Given the description of an element on the screen output the (x, y) to click on. 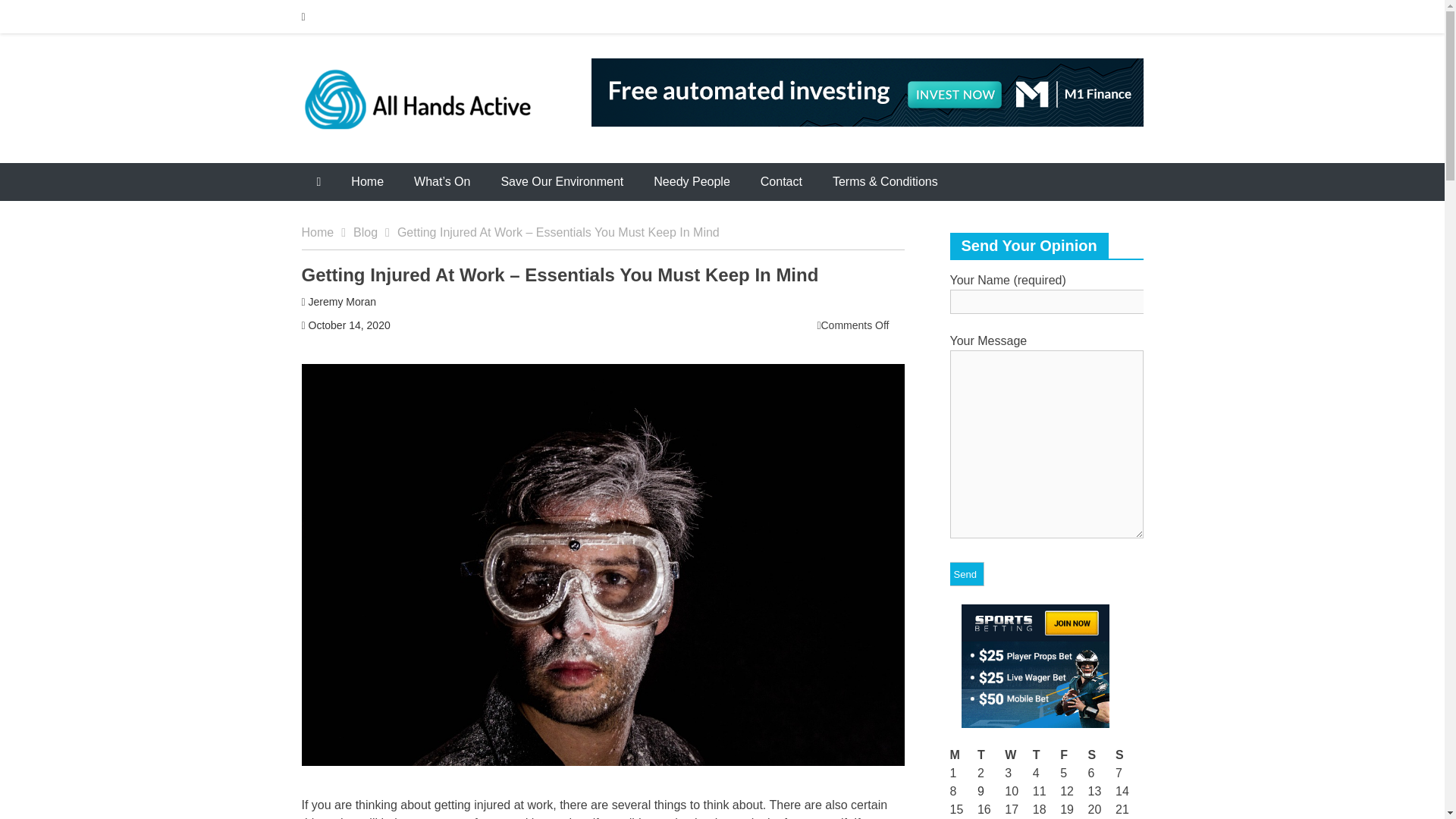
Send (965, 573)
Jeremy Moran (341, 301)
October 14, 2020 (349, 325)
Send (965, 573)
Contact (780, 181)
Wednesday (1018, 755)
Home (327, 232)
9 (980, 789)
Home (367, 181)
Save Our Environment (561, 181)
Blog (375, 232)
Thursday (1045, 755)
Sunday (1128, 755)
Needy People (692, 181)
Saturday (1101, 755)
